Given the description of an element on the screen output the (x, y) to click on. 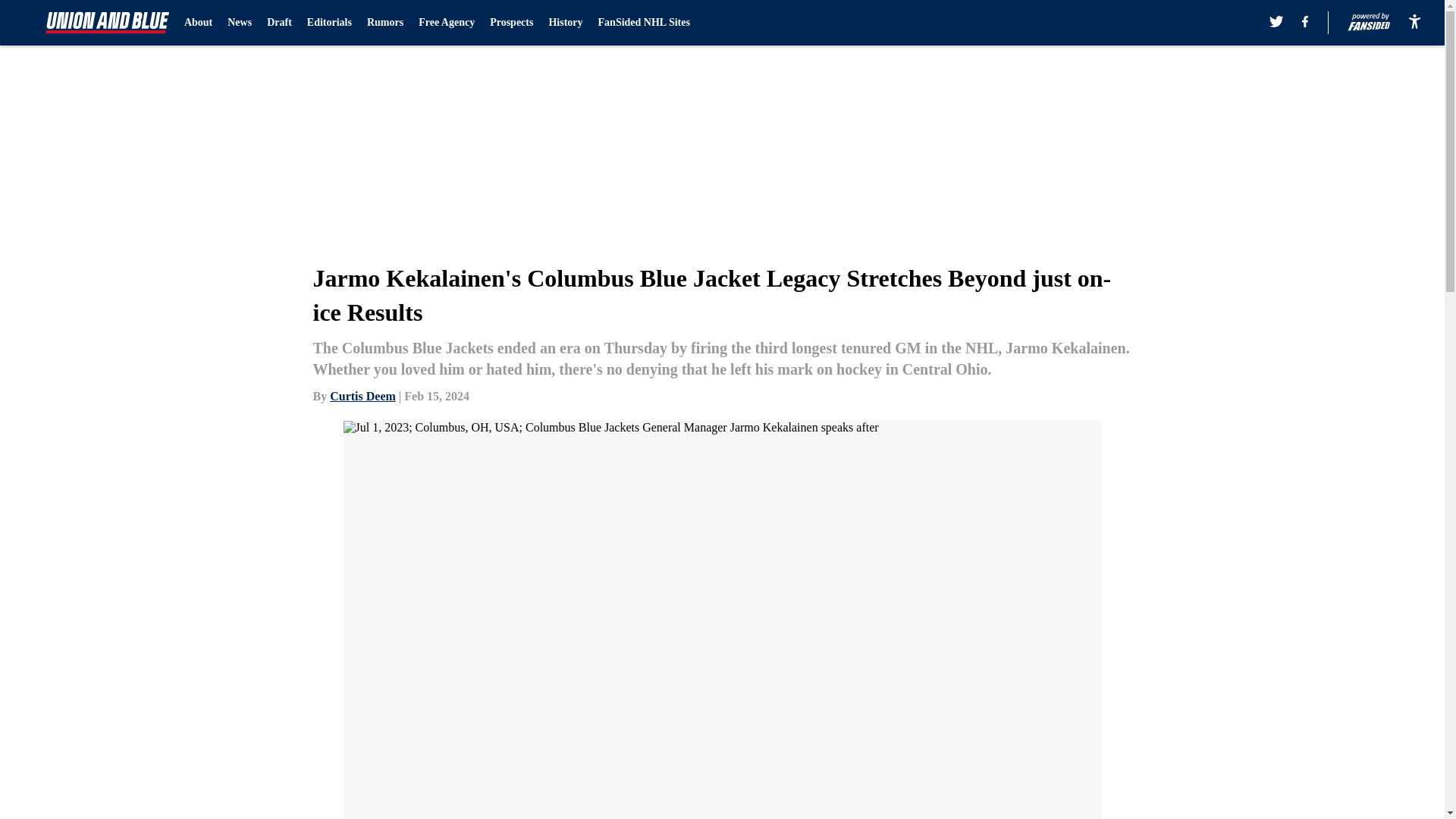
Editorials (329, 22)
FanSided NHL Sites (644, 22)
Rumors (384, 22)
Draft (279, 22)
About (198, 22)
News (239, 22)
History (565, 22)
Prospects (510, 22)
Free Agency (446, 22)
Curtis Deem (363, 395)
